Given the description of an element on the screen output the (x, y) to click on. 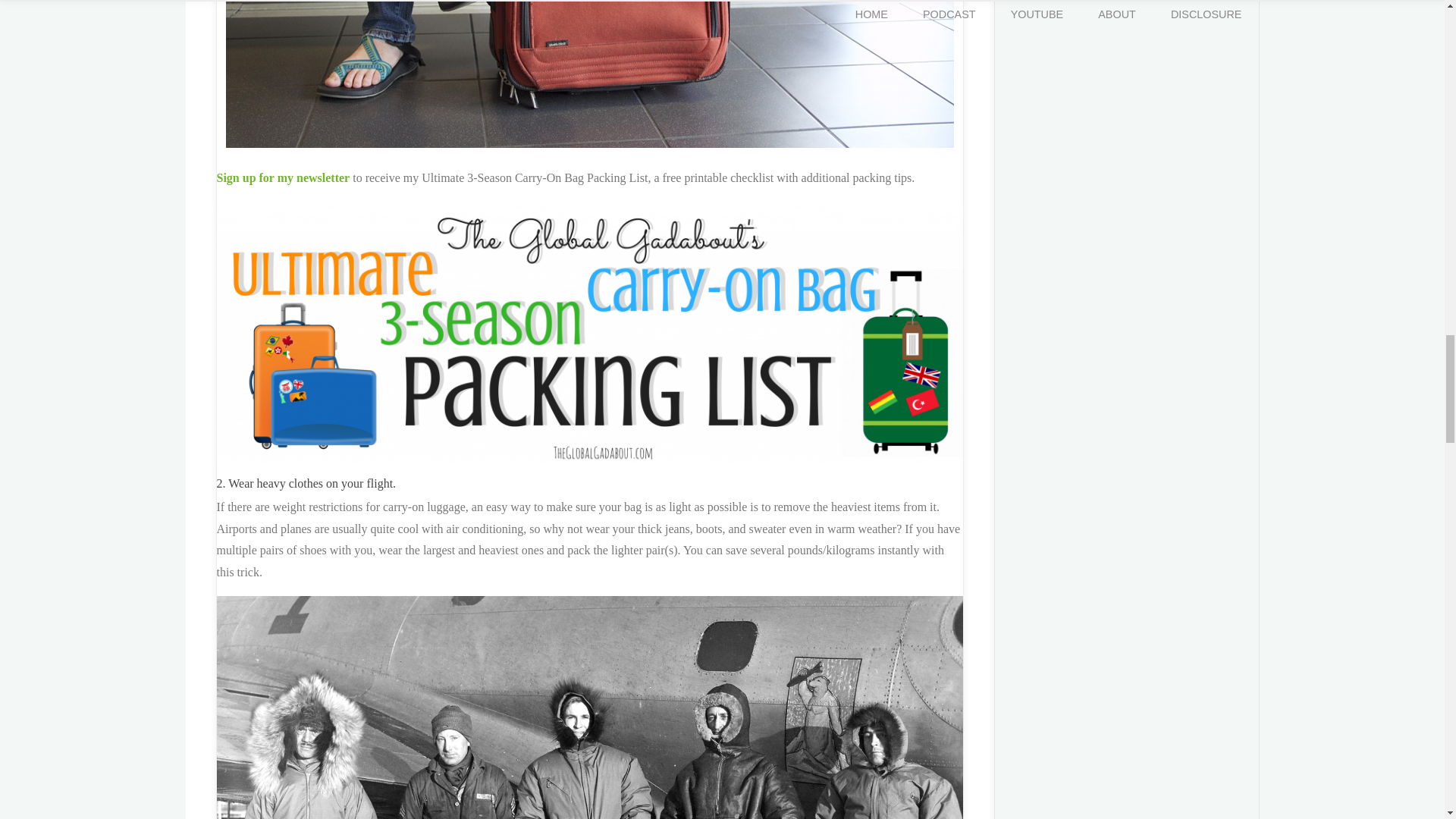
Sign up for my newsletter (283, 177)
